Given the description of an element on the screen output the (x, y) to click on. 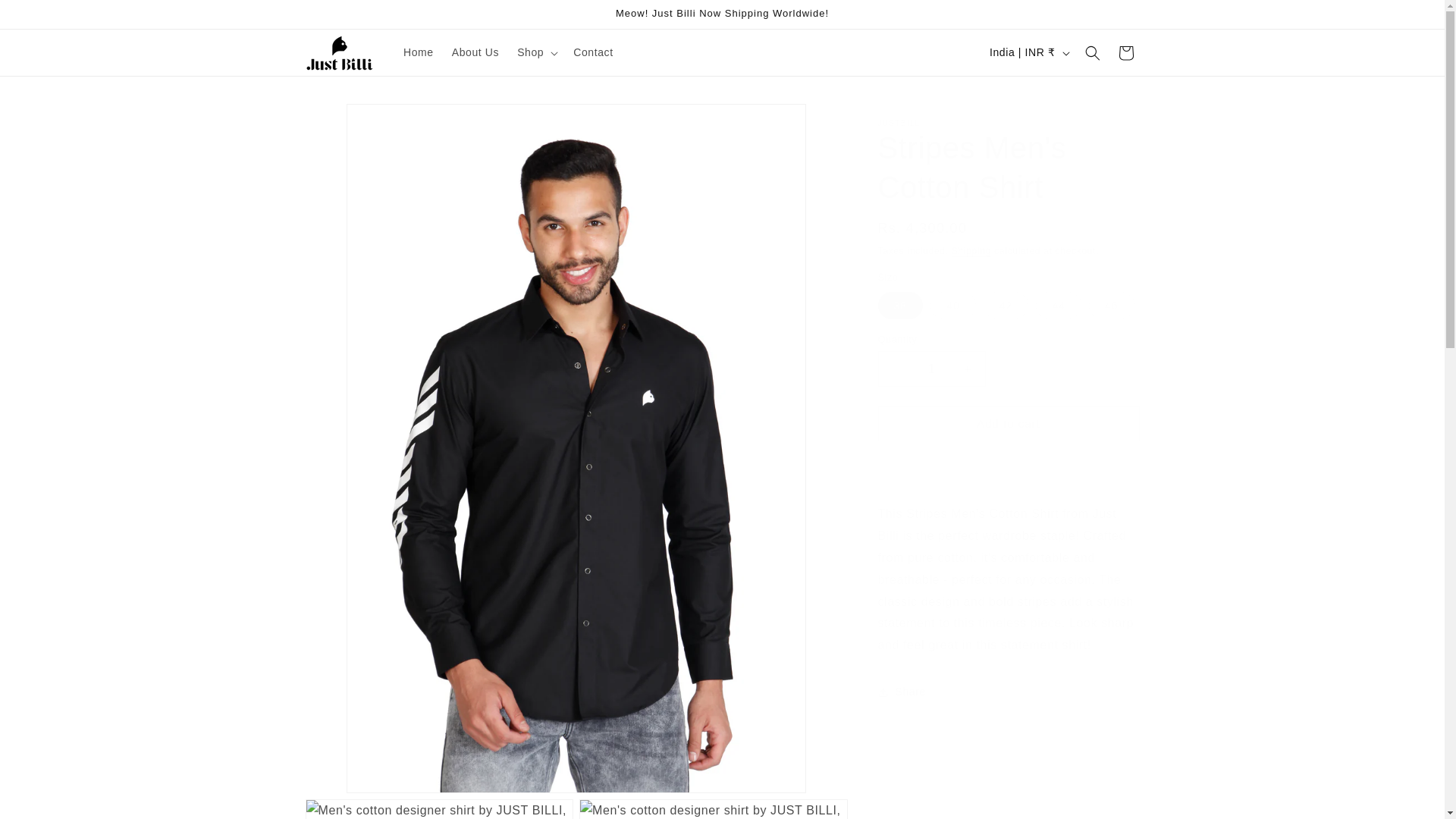
About Us (475, 51)
Open media 3 in modal (713, 809)
1 (931, 368)
Skip to content (45, 17)
Contact (592, 51)
